Given the description of an element on the screen output the (x, y) to click on. 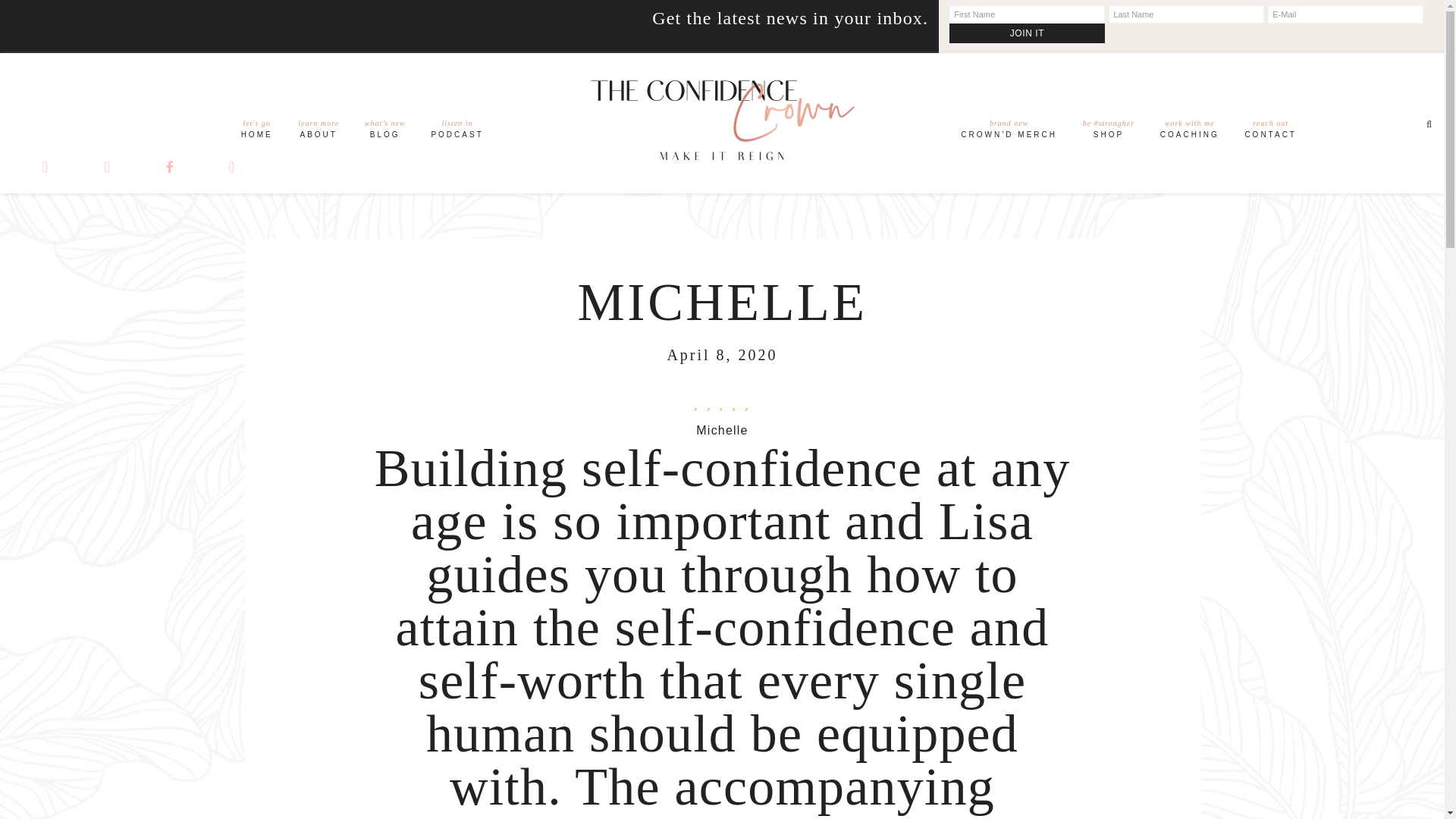
Join it (256, 131)
Join it (1190, 131)
